Given the description of an element on the screen output the (x, y) to click on. 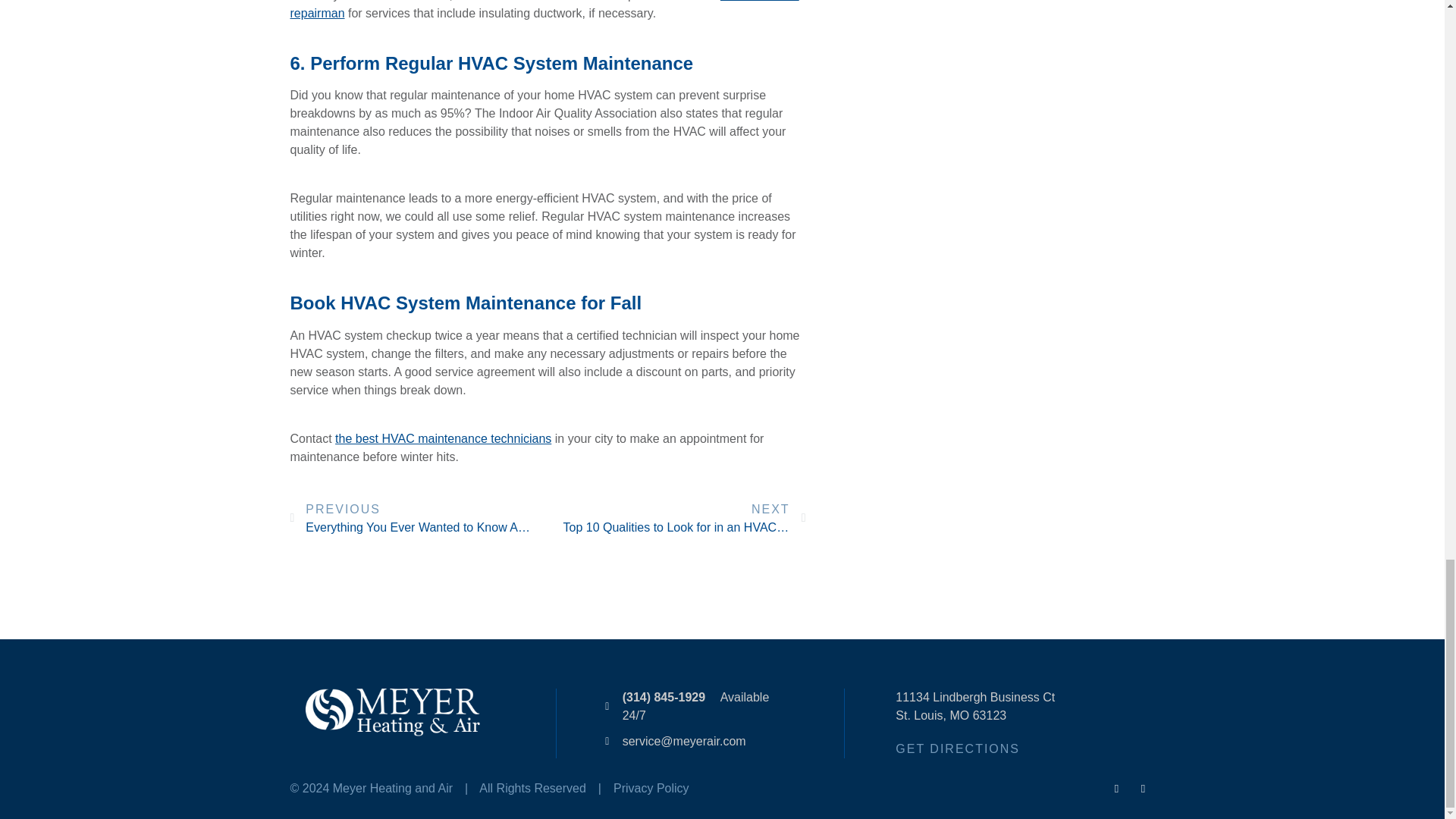
the best HVAC maintenance technicians (442, 438)
talk to a HVAC repairman (543, 9)
talk to a HVAC repairman (543, 9)
the best HVAC maintenance technicians (442, 438)
